Given the description of an element on the screen output the (x, y) to click on. 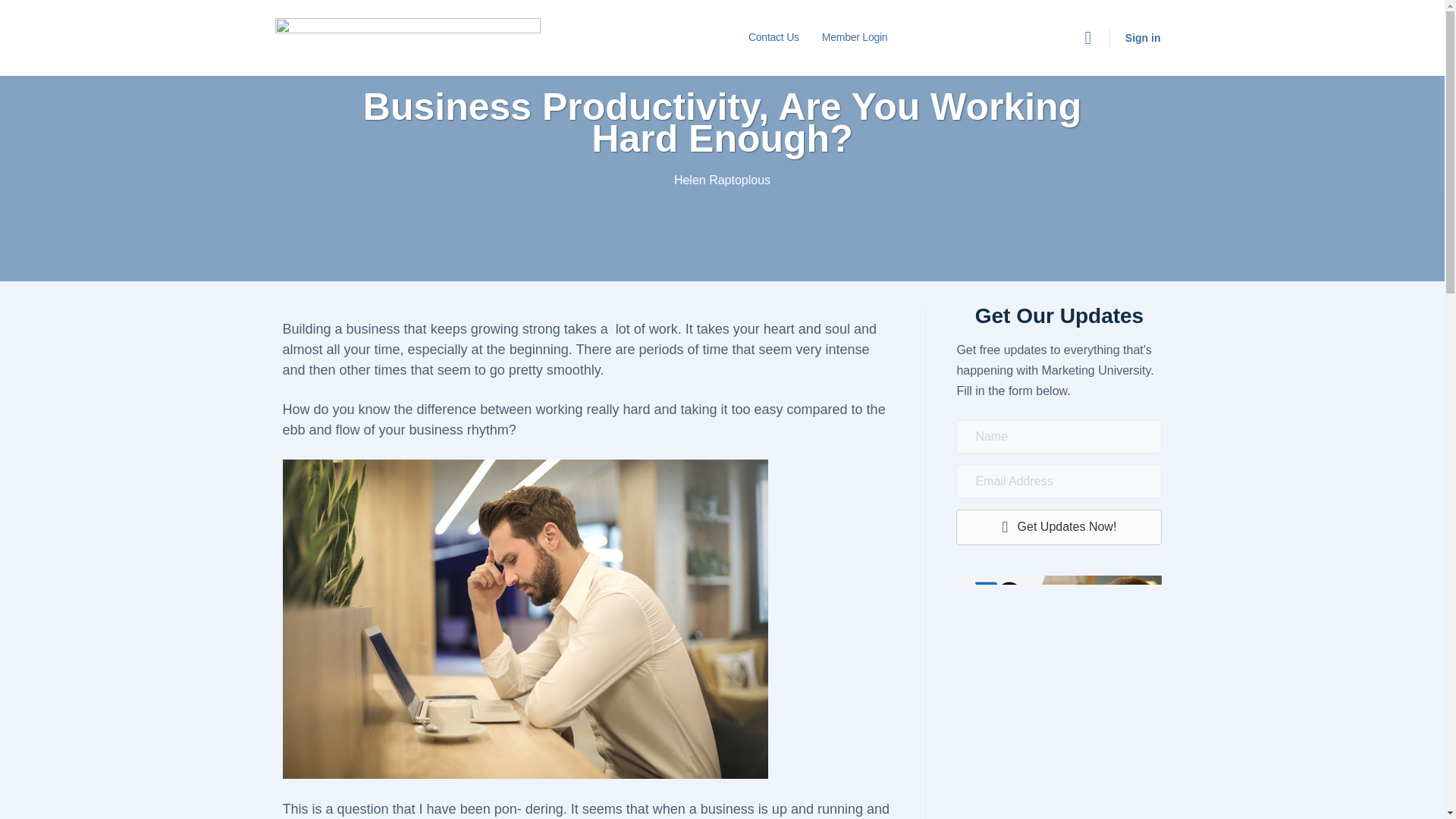
Member Login (854, 38)
Get Updates Now! (1058, 527)
Sign in (1143, 37)
Helen Raptoplous (722, 179)
